Given the description of an element on the screen output the (x, y) to click on. 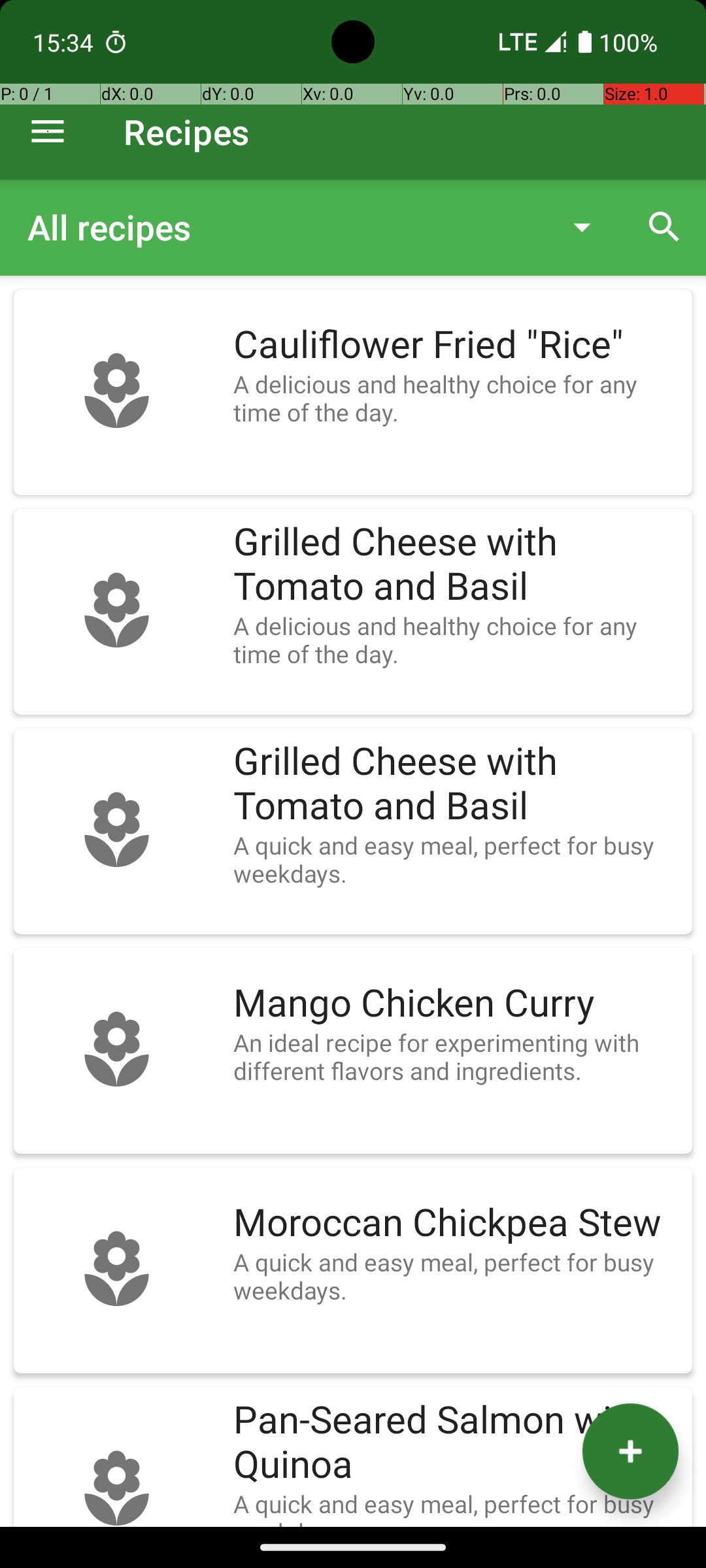
Mango Chicken Curry Element type: android.widget.TextView (455, 1003)
Pan-Seared Salmon with Quinoa Element type: android.widget.TextView (455, 1442)
